Given the description of an element on the screen output the (x, y) to click on. 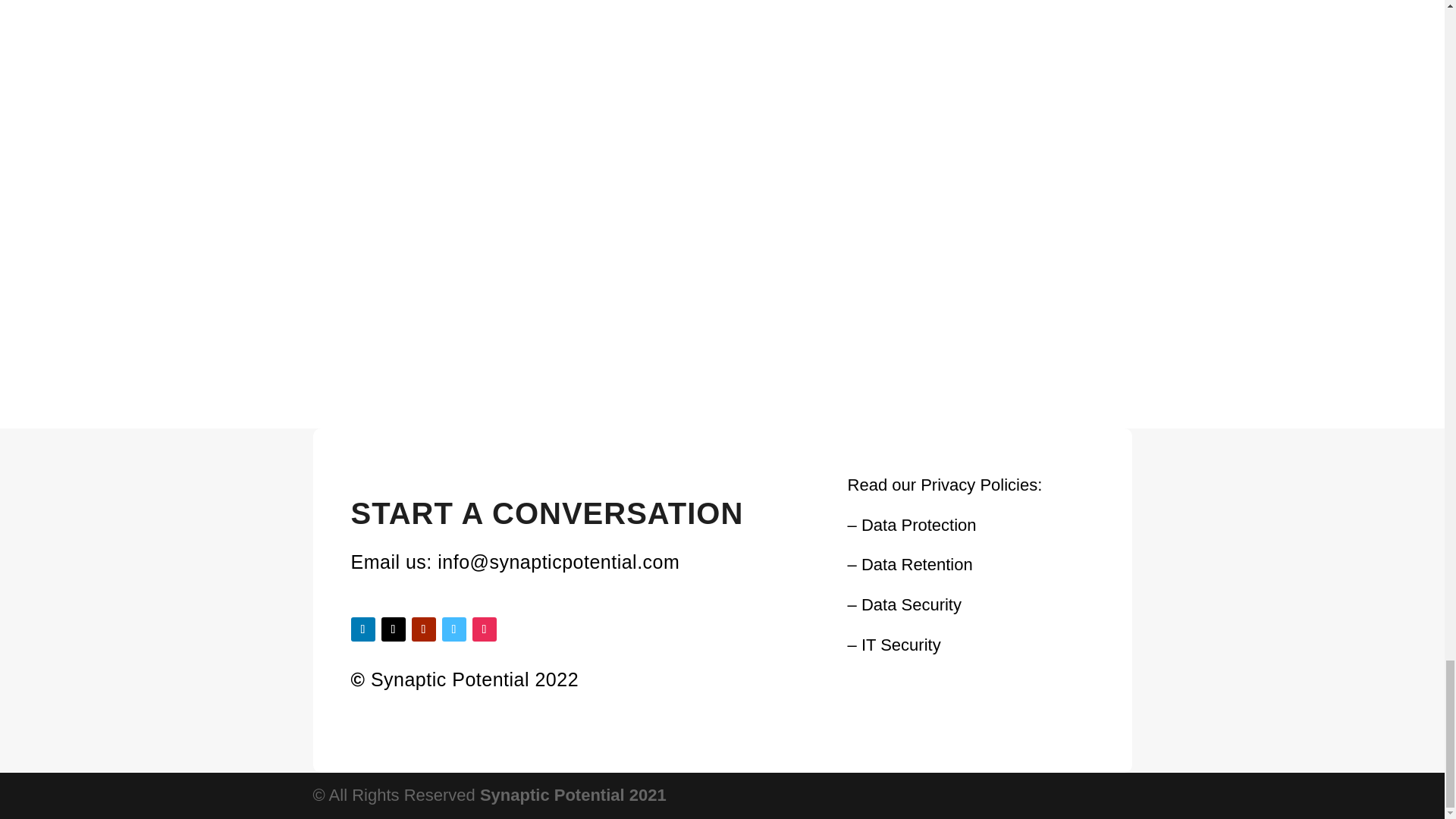
Follow on X (392, 629)
Follow on Instagram (483, 629)
Follow on LinkedIn (362, 629)
Follow on Vimeo (453, 629)
Follow on Youtube (422, 629)
